Given the description of an element on the screen output the (x, y) to click on. 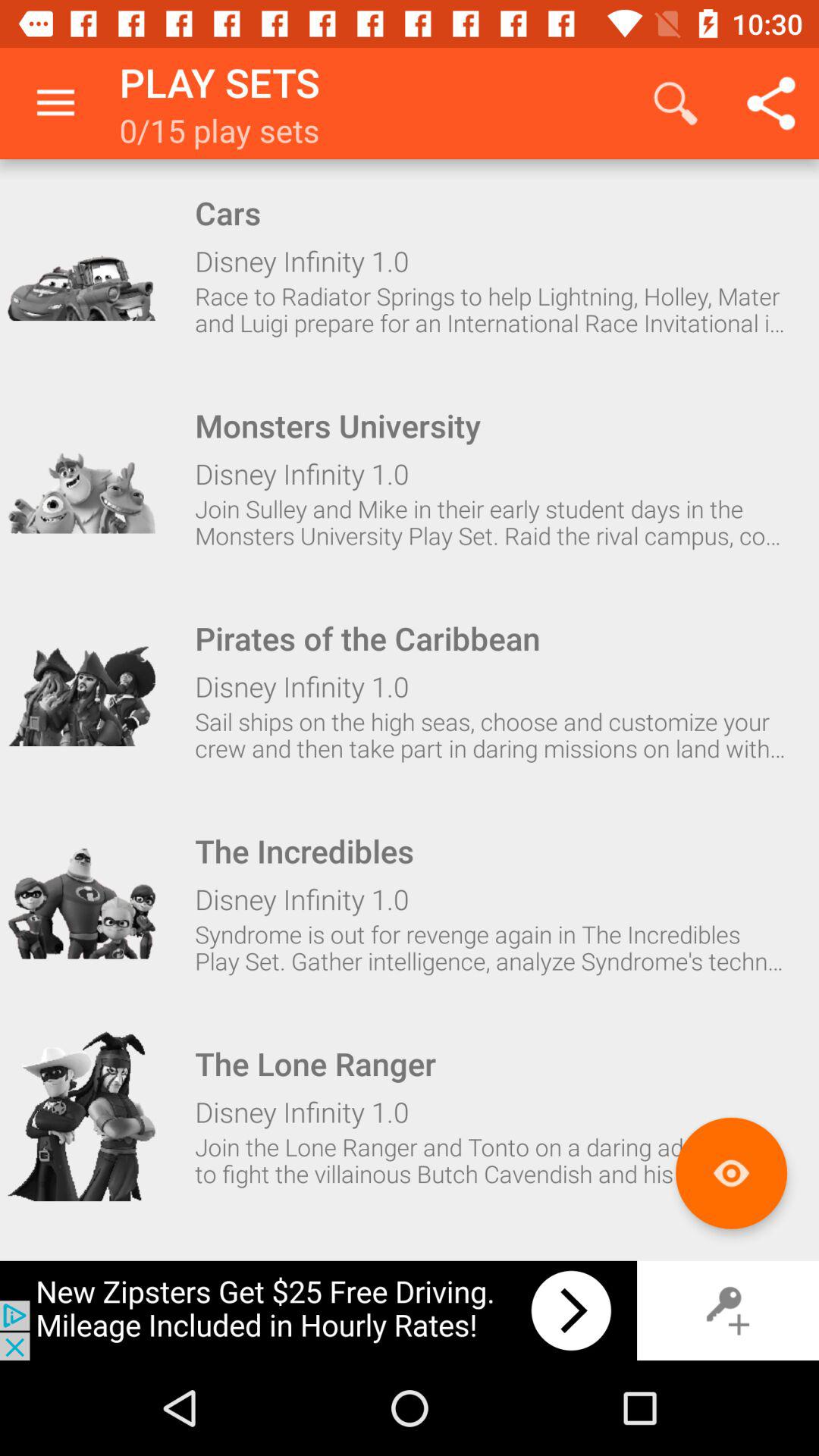
favorite watch-list (731, 1173)
